Given the description of an element on the screen output the (x, y) to click on. 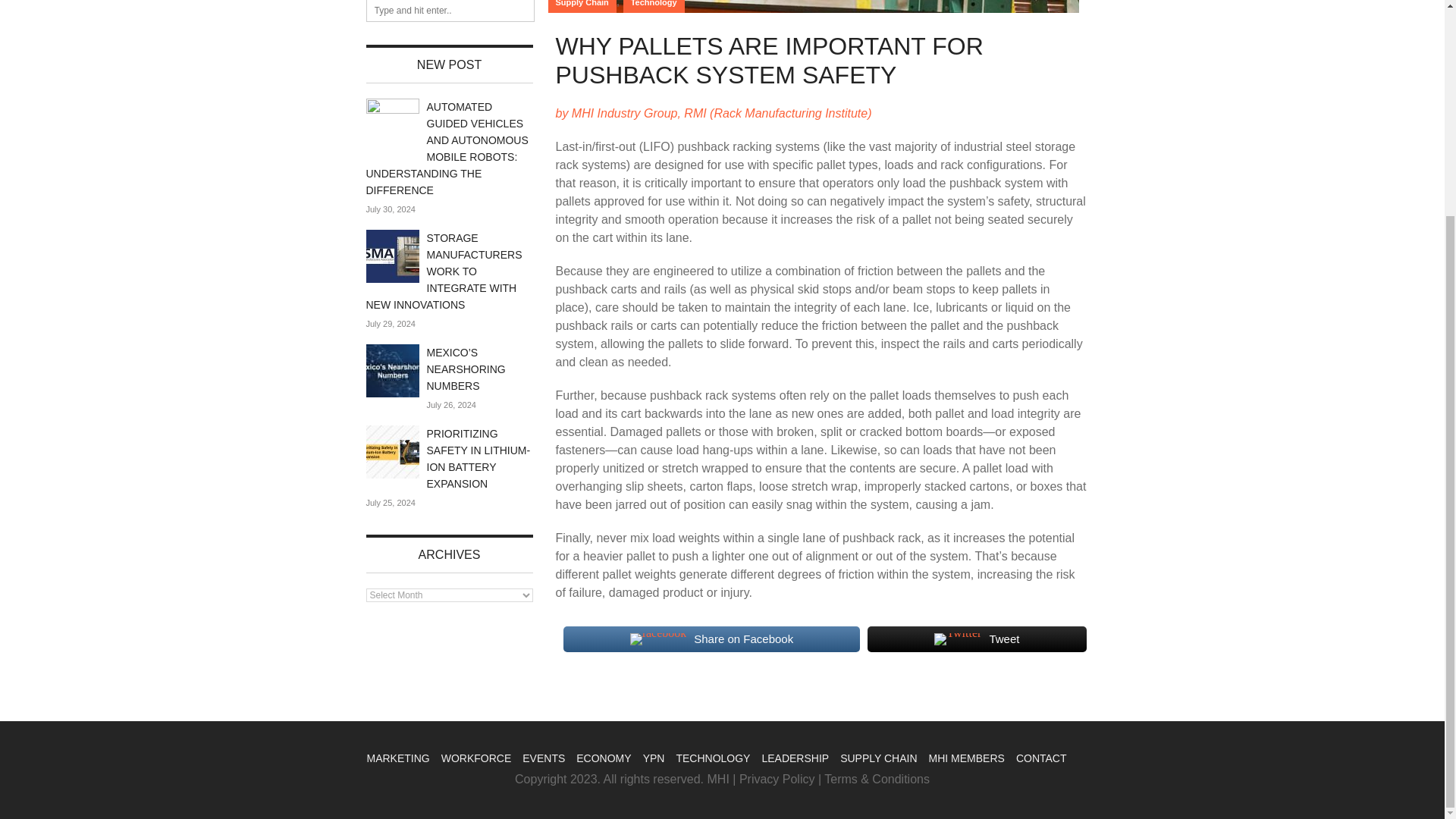
LEADERSHIP (794, 757)
CONTACT (1041, 757)
Prioritizing Safety in Lithium-Ion Battery Expansion (477, 458)
ECONOMY (603, 757)
TECHNOLOGY (712, 757)
EVENTS (543, 757)
Share on Facebook (711, 638)
Storage Manufacturers Work to Integrate with New Innovations (443, 271)
YPN (654, 757)
Tweet (976, 638)
